Given the description of an element on the screen output the (x, y) to click on. 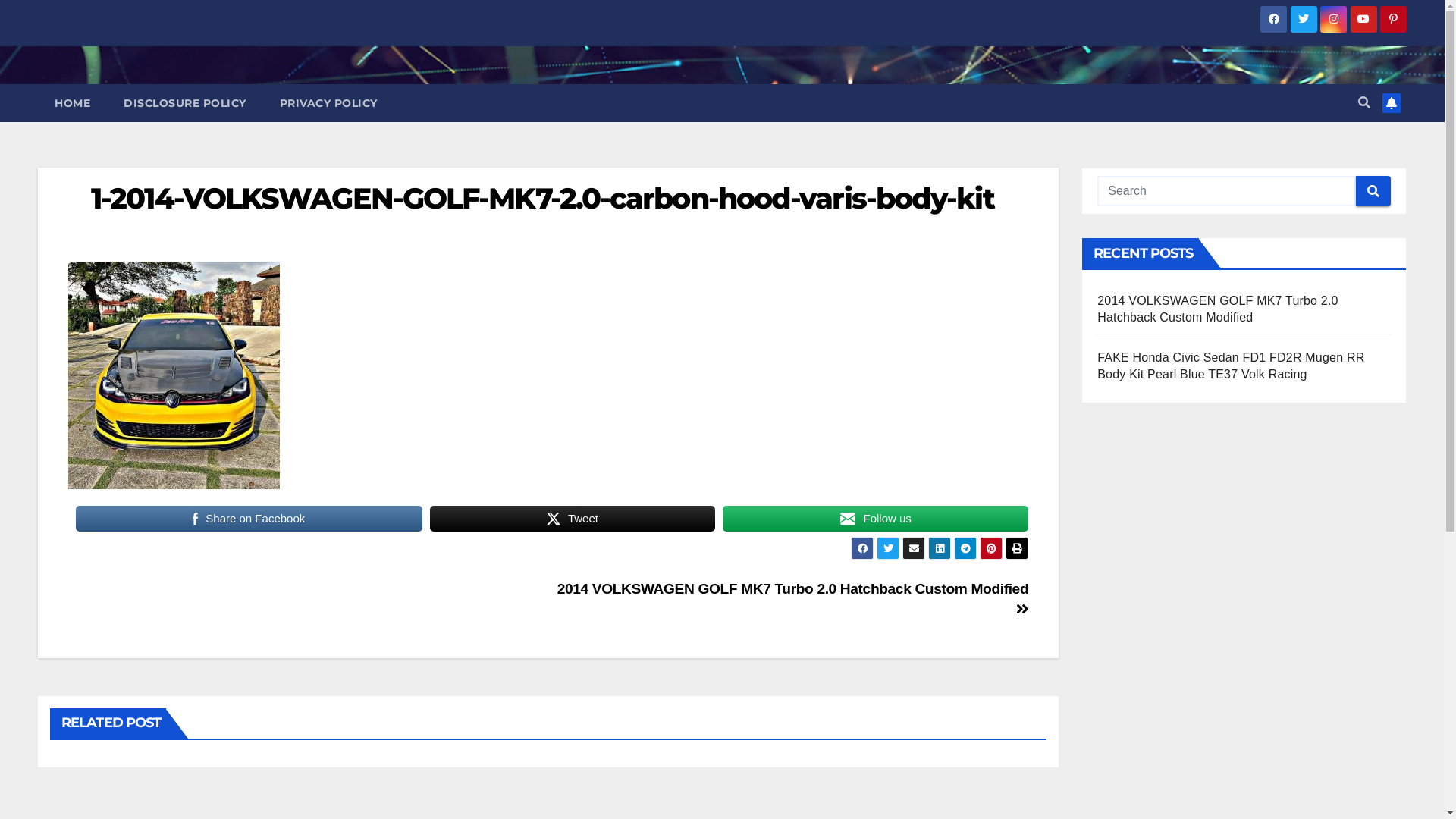
DISCLOSURE POLICY Element type: text (184, 103)
2014 VOLKSWAGEN GOLF MK7 Turbo 2.0 Hatchback Custom Modified Element type: text (793, 598)
HOME Element type: text (71, 103)
Follow us Element type: text (875, 518)
Tweet Element type: text (572, 518)
2014 VOLKSWAGEN GOLF MK7 Turbo 2.0 Hatchback Custom Modified Element type: text (1217, 308)
Share on Facebook Element type: text (248, 518)
1-2014-VOLKSWAGEN-GOLF-MK7-2.0-carbon-hood-varis-body-kit Element type: text (542, 198)
PRIVACY POLICY Element type: text (327, 103)
